Given the description of an element on the screen output the (x, y) to click on. 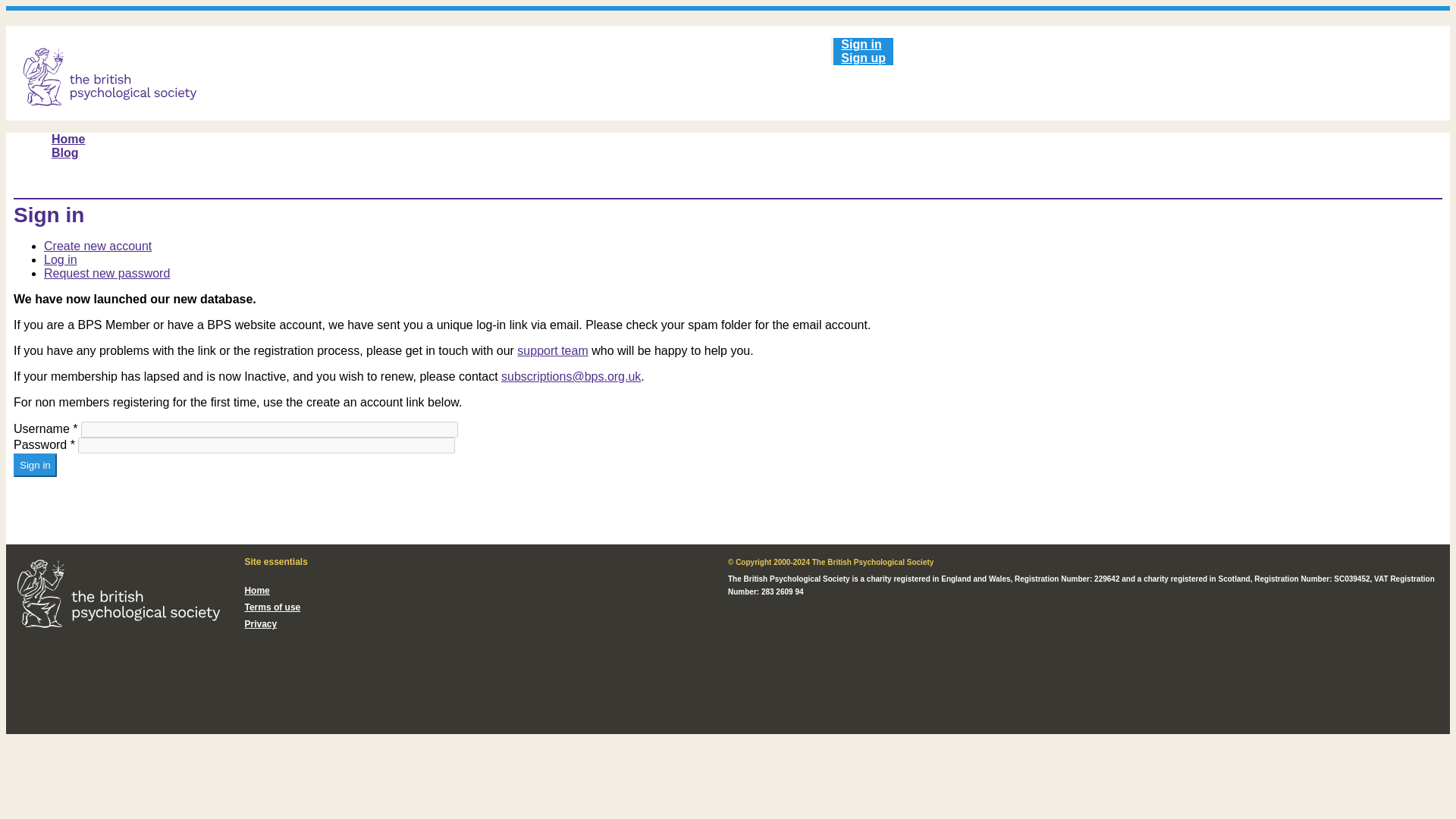
Sign in (34, 464)
Home (256, 590)
Sign in (860, 44)
Request new password (106, 273)
Sign up (862, 57)
Home (68, 138)
Create new account (97, 245)
